Given the description of an element on the screen output the (x, y) to click on. 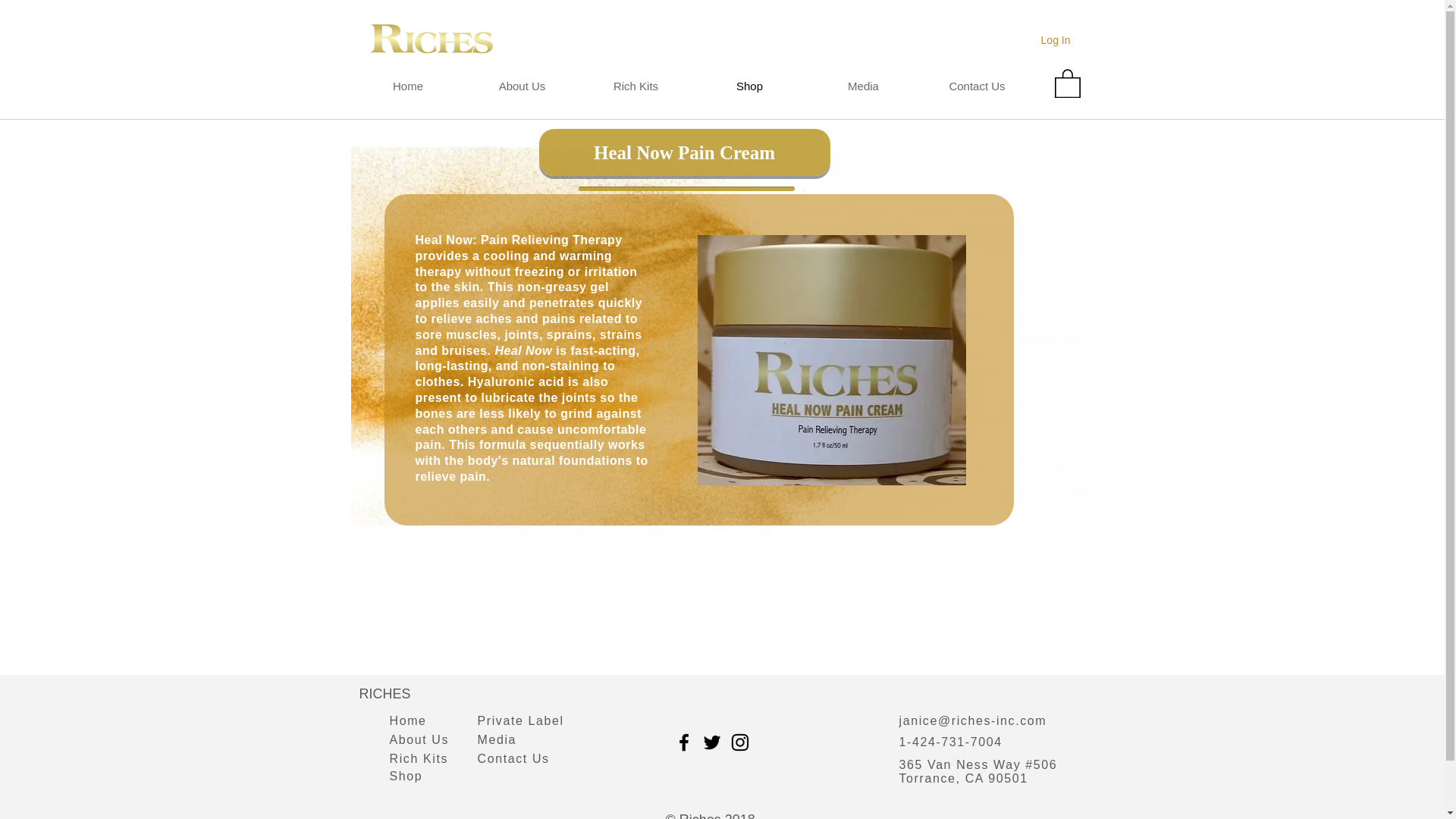
Home (407, 86)
Rich Kits (419, 758)
Shop (749, 86)
Contact Us (513, 758)
About Us (419, 739)
Media (496, 739)
About Us (522, 86)
Log In (1055, 39)
Private Label (520, 720)
Rich Kits (636, 86)
Contact Us (976, 86)
Shop (406, 775)
Media (863, 86)
Heal Now Pain Cream (683, 152)
Home (408, 720)
